Given the description of an element on the screen output the (x, y) to click on. 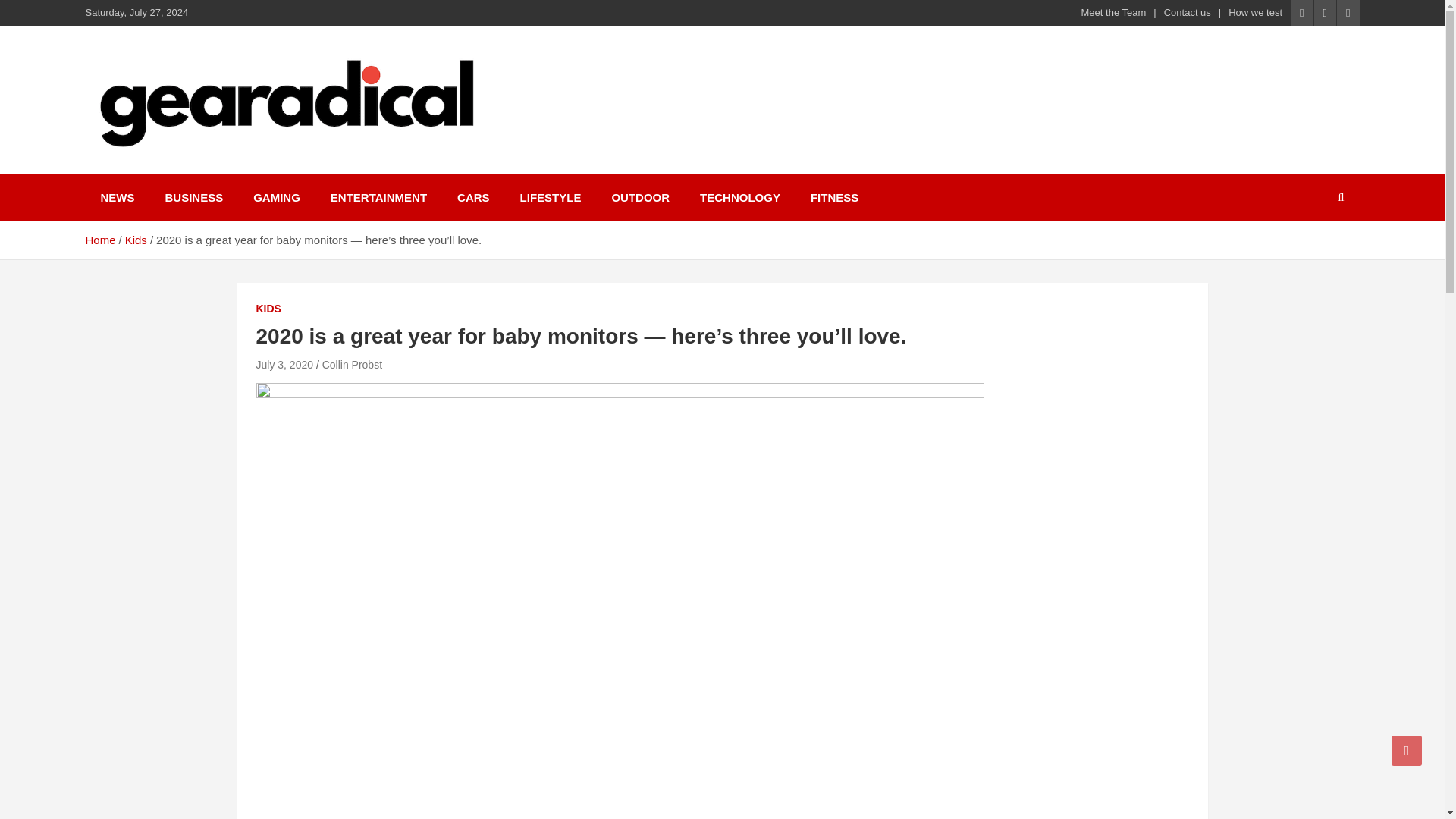
GAMING (276, 197)
Kids (136, 239)
Meet the Team (1114, 12)
KIDS (268, 309)
BUSINESS (193, 197)
LIFESTYLE (550, 197)
OUTDOOR (639, 197)
Go to Top (1406, 750)
GEARADICAL (185, 171)
NEWS (116, 197)
How we test (1255, 12)
FITNESS (833, 197)
July 3, 2020 (285, 364)
Collin Probst (351, 364)
